Given the description of an element on the screen output the (x, y) to click on. 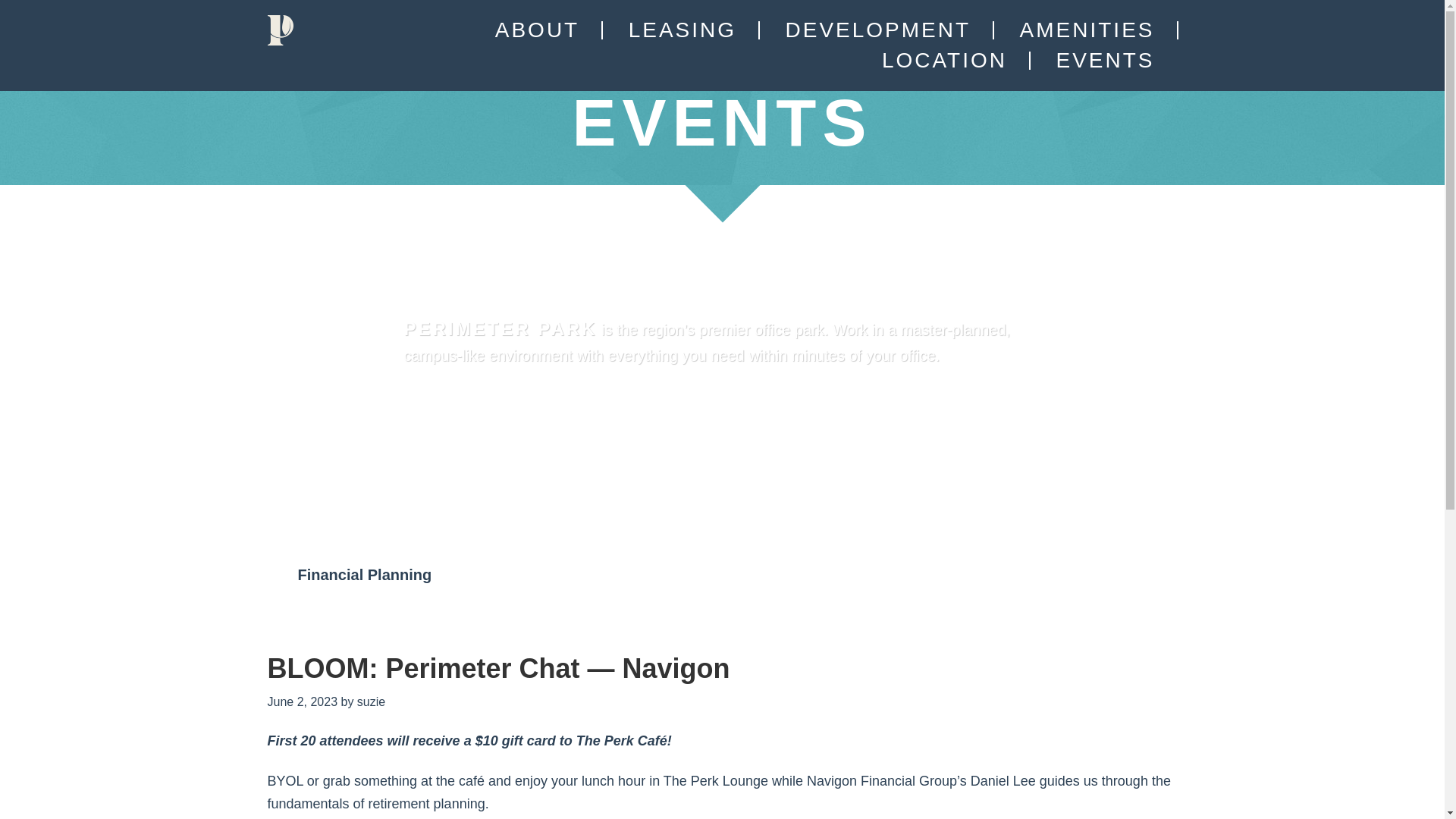
LOCATION (944, 60)
LEASING (681, 30)
AMENITIES (1087, 30)
EVENTS (1104, 60)
ABOUT (536, 30)
suzie (370, 701)
DEVELOPMENT (878, 30)
